Given the description of an element on the screen output the (x, y) to click on. 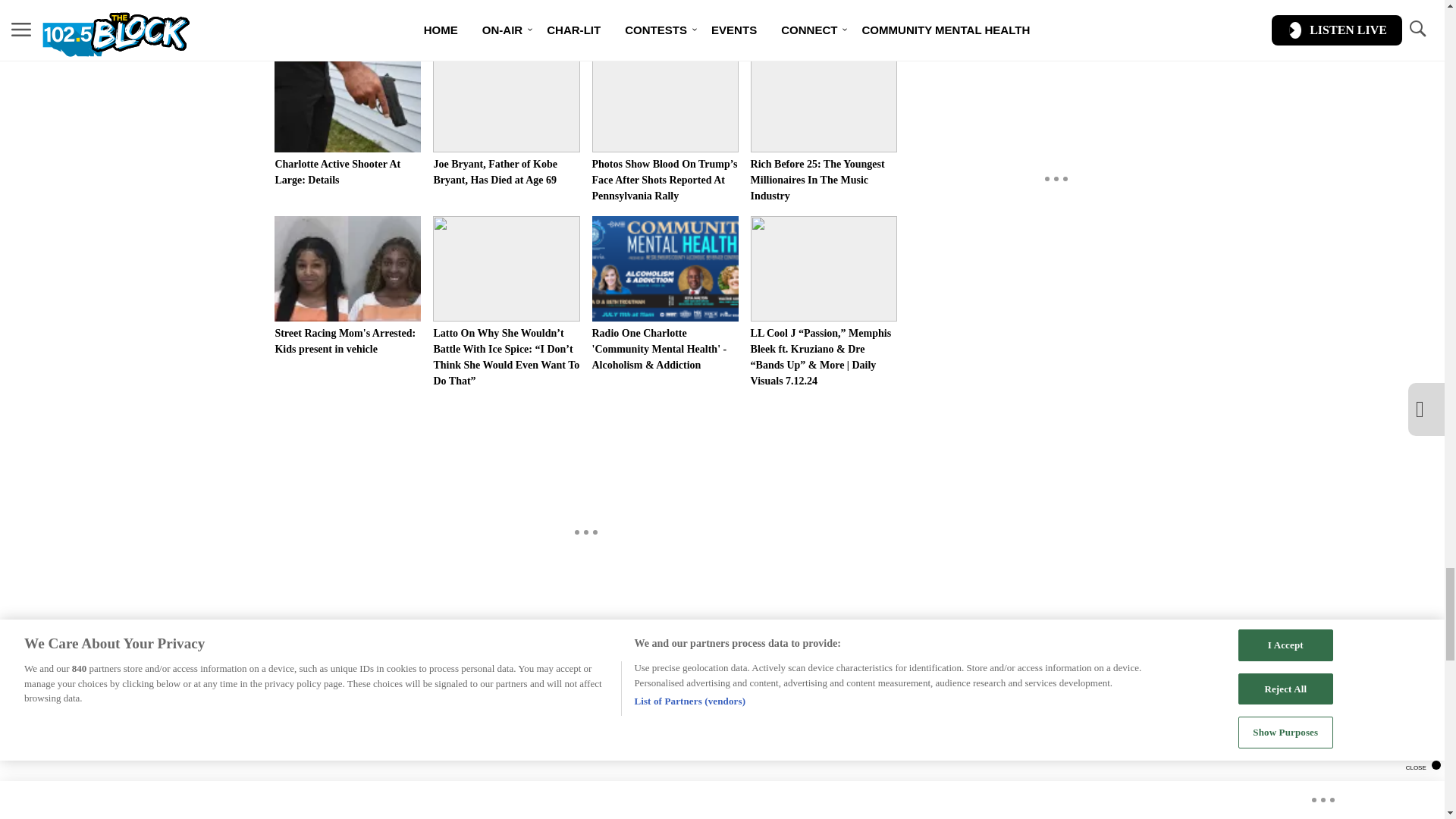
Vuukle Comments Widget (585, 747)
